Given the description of an element on the screen output the (x, y) to click on. 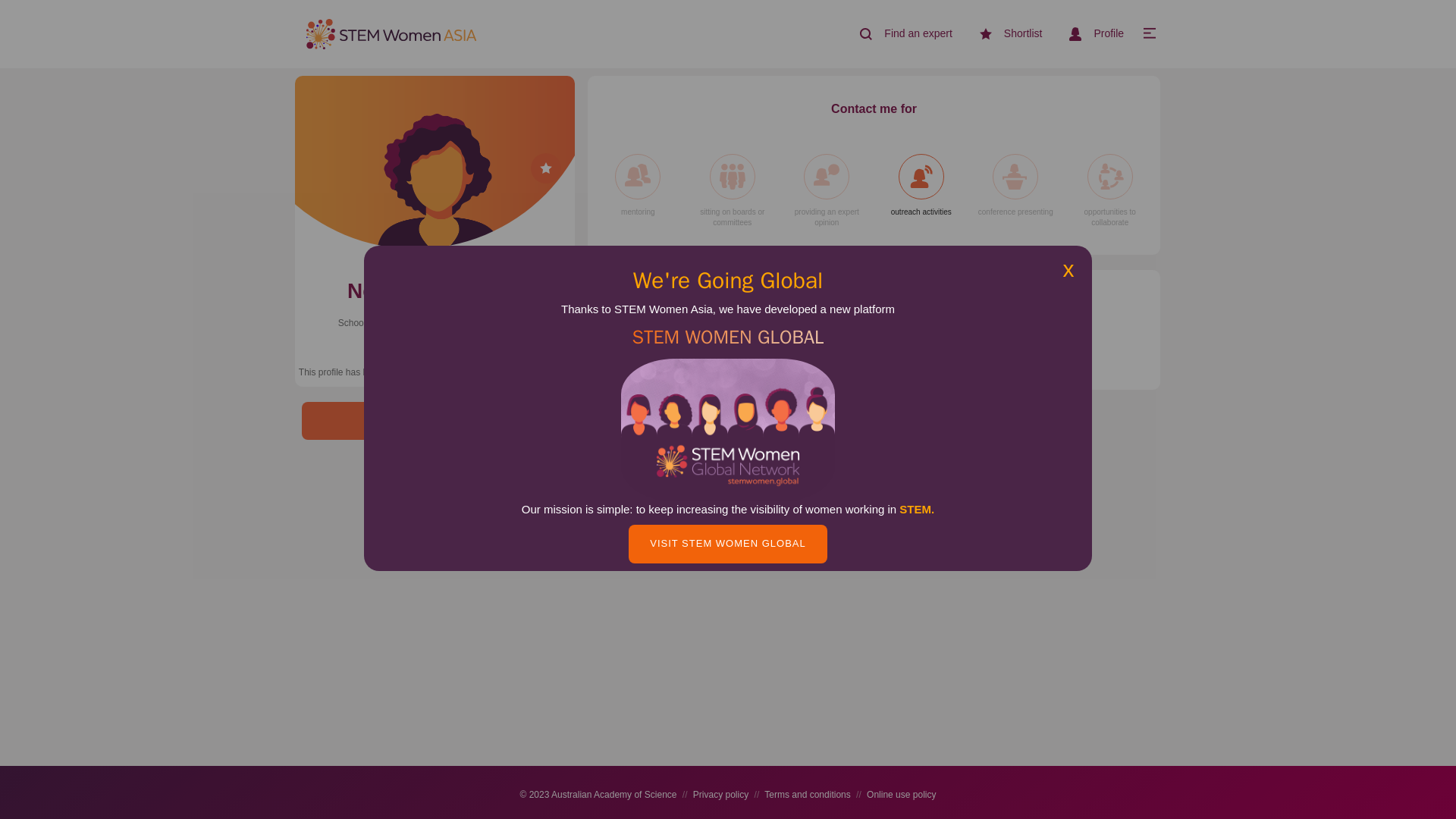
Privacy policy (720, 794)
Online use policy (901, 794)
CONTACT (434, 421)
Opportunities to collaborate with other experts (1109, 191)
Shortlist (1005, 34)
Receive invitations to sit on boards and committees (732, 191)
Present at expertise relevant conferences (1015, 185)
Biochemistry (633, 350)
Provide your expert opinion to a seeker (826, 191)
Provide mentorship to others (637, 185)
Profile (1090, 33)
India (434, 357)
VISIT STEM WOMEN GLOBAL (727, 543)
Find an expert (899, 34)
